Given the description of an element on the screen output the (x, y) to click on. 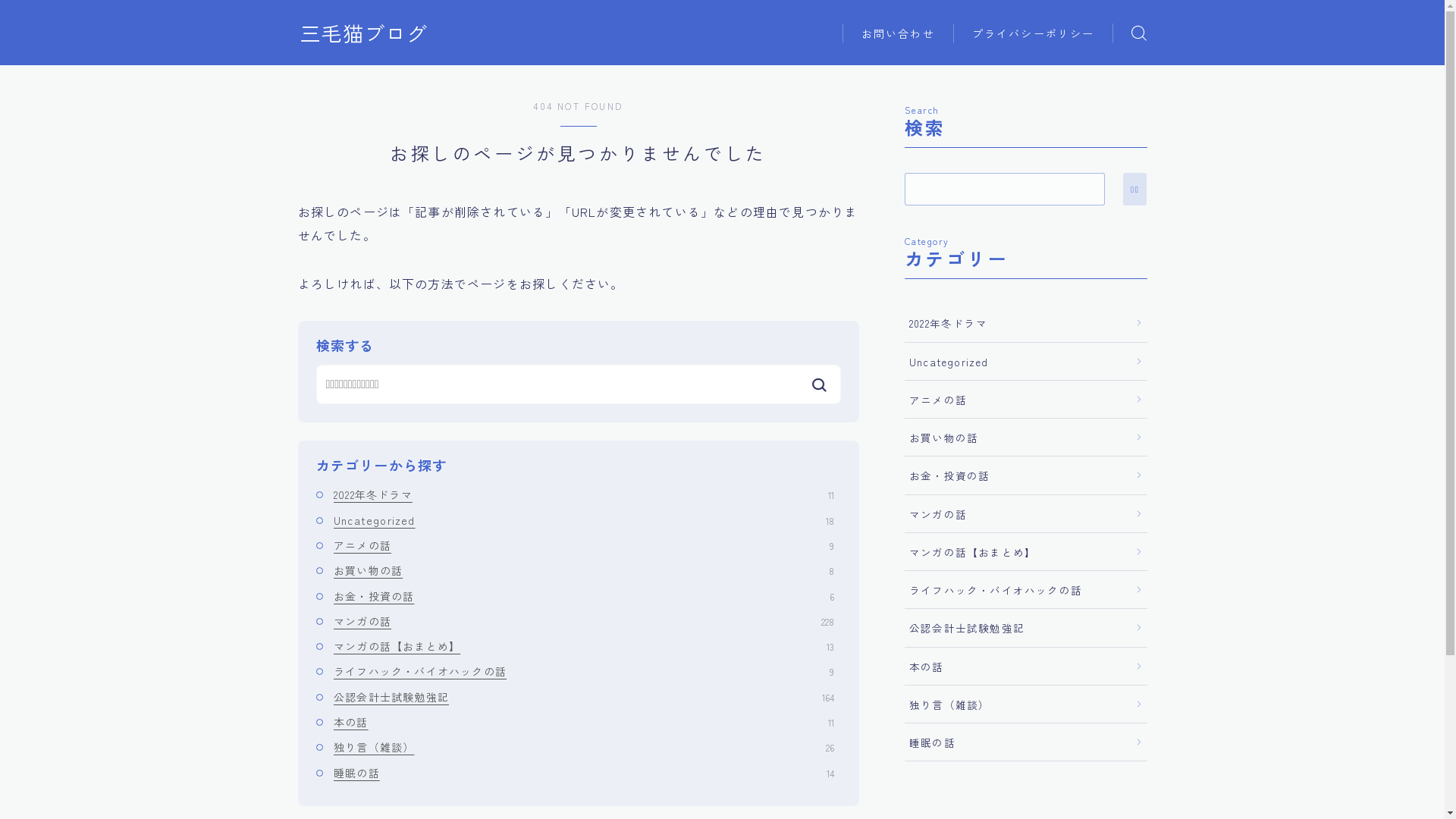
Uncategorized
18 Element type: text (586, 520)
Uncategorized Element type: text (1024, 360)
